Given the description of an element on the screen output the (x, y) to click on. 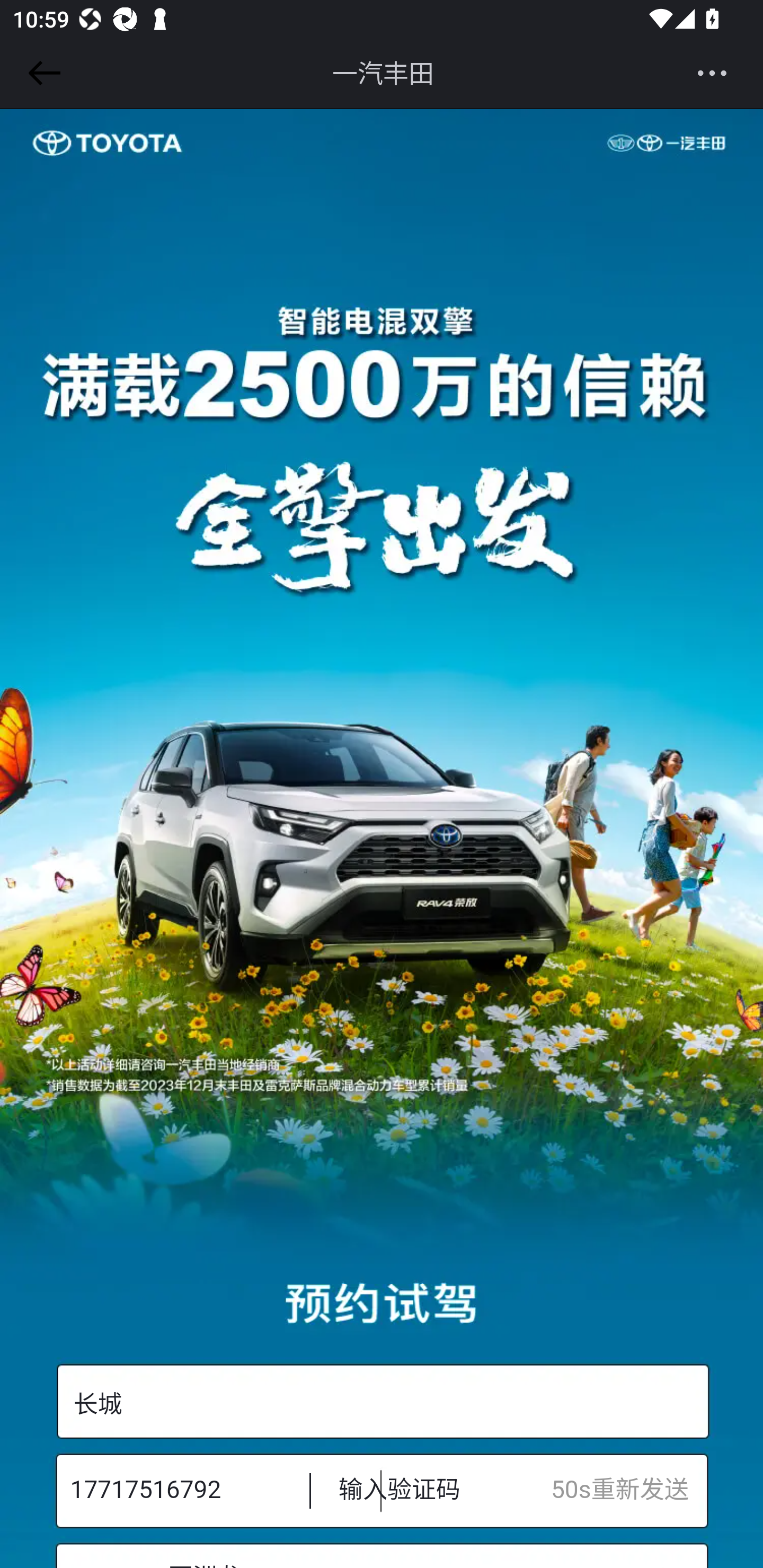
 (41, 72)
长城 (381, 1402)
17717516792 (176, 1490)
50s重新发送 (629, 1490)
